Given the description of an element on the screen output the (x, y) to click on. 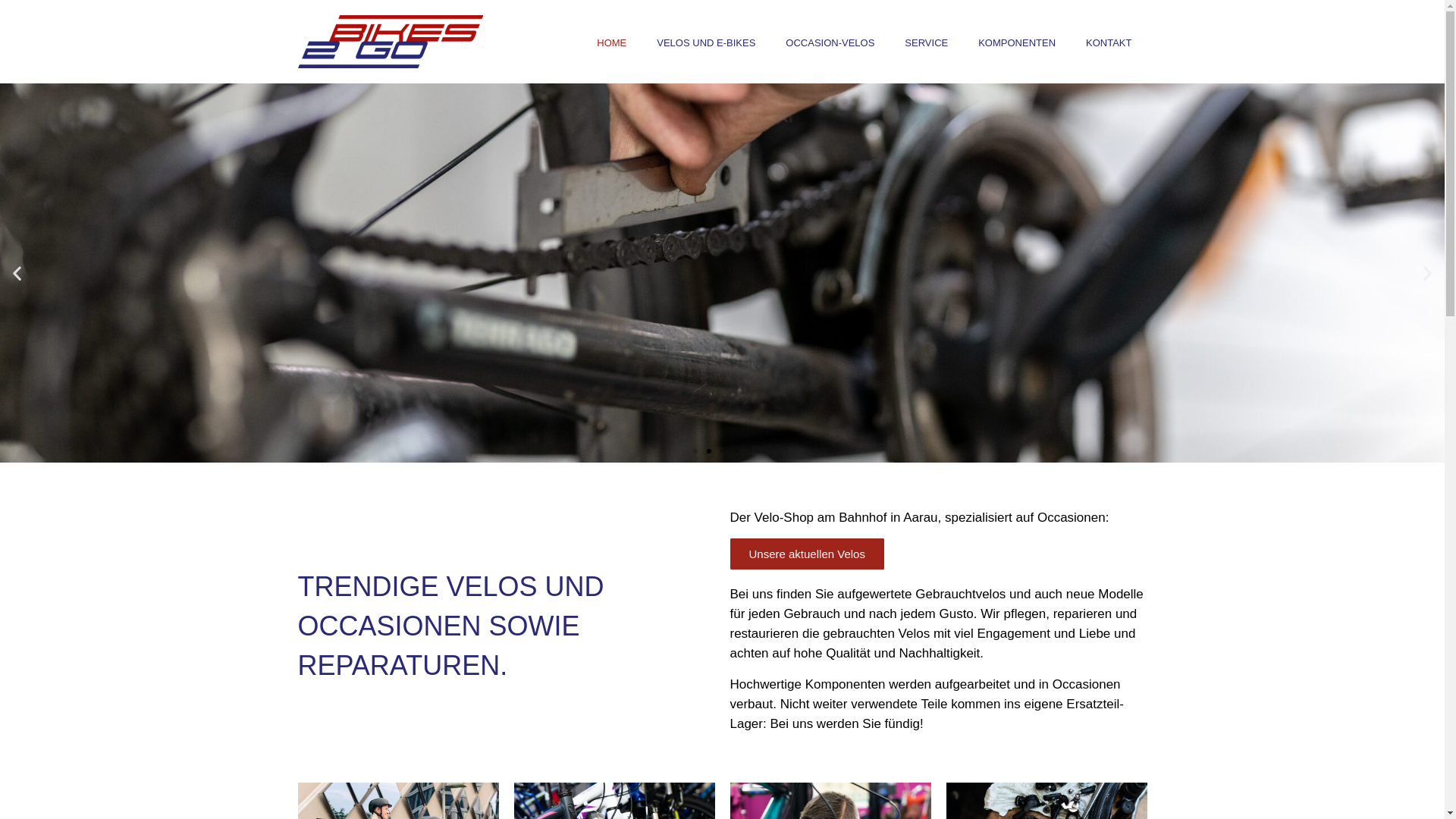
HOME Element type: text (611, 42)
VELOS UND E-BIKES Element type: text (705, 42)
Unsere aktuellen Velos Element type: text (806, 553)
OCCASION-VELOS Element type: text (829, 42)
KONTAKT Element type: text (1108, 42)
SERVICE Element type: text (926, 42)
KOMPONENTEN Element type: text (1016, 42)
